Given the description of an element on the screen output the (x, y) to click on. 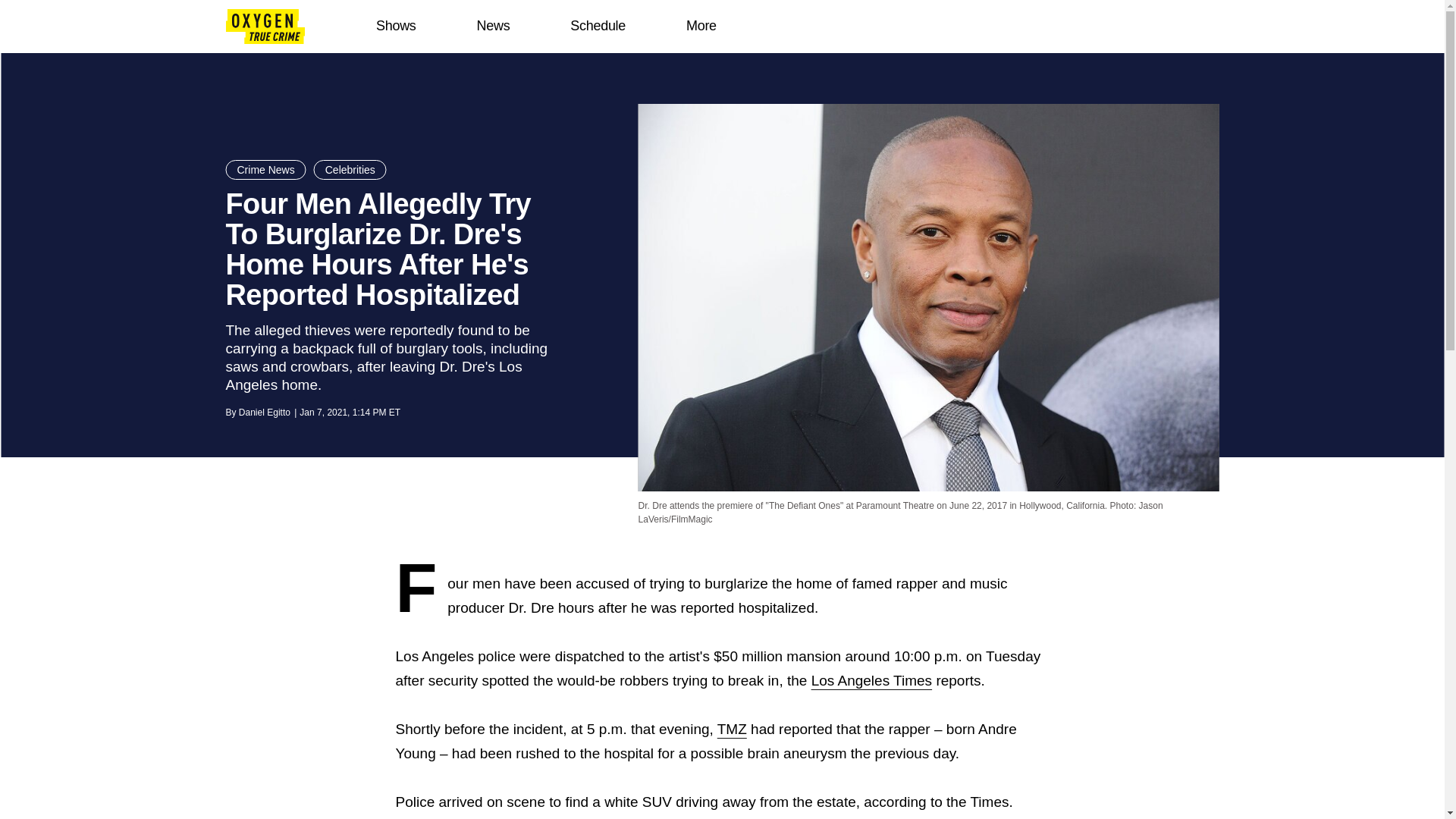
Crime News (265, 169)
TMZ (731, 729)
News (492, 26)
Celebrities (350, 169)
Los Angeles Times (870, 680)
Shows (395, 26)
Schedule (598, 26)
Daniel Egitto (263, 412)
More (700, 26)
